Given the description of an element on the screen output the (x, y) to click on. 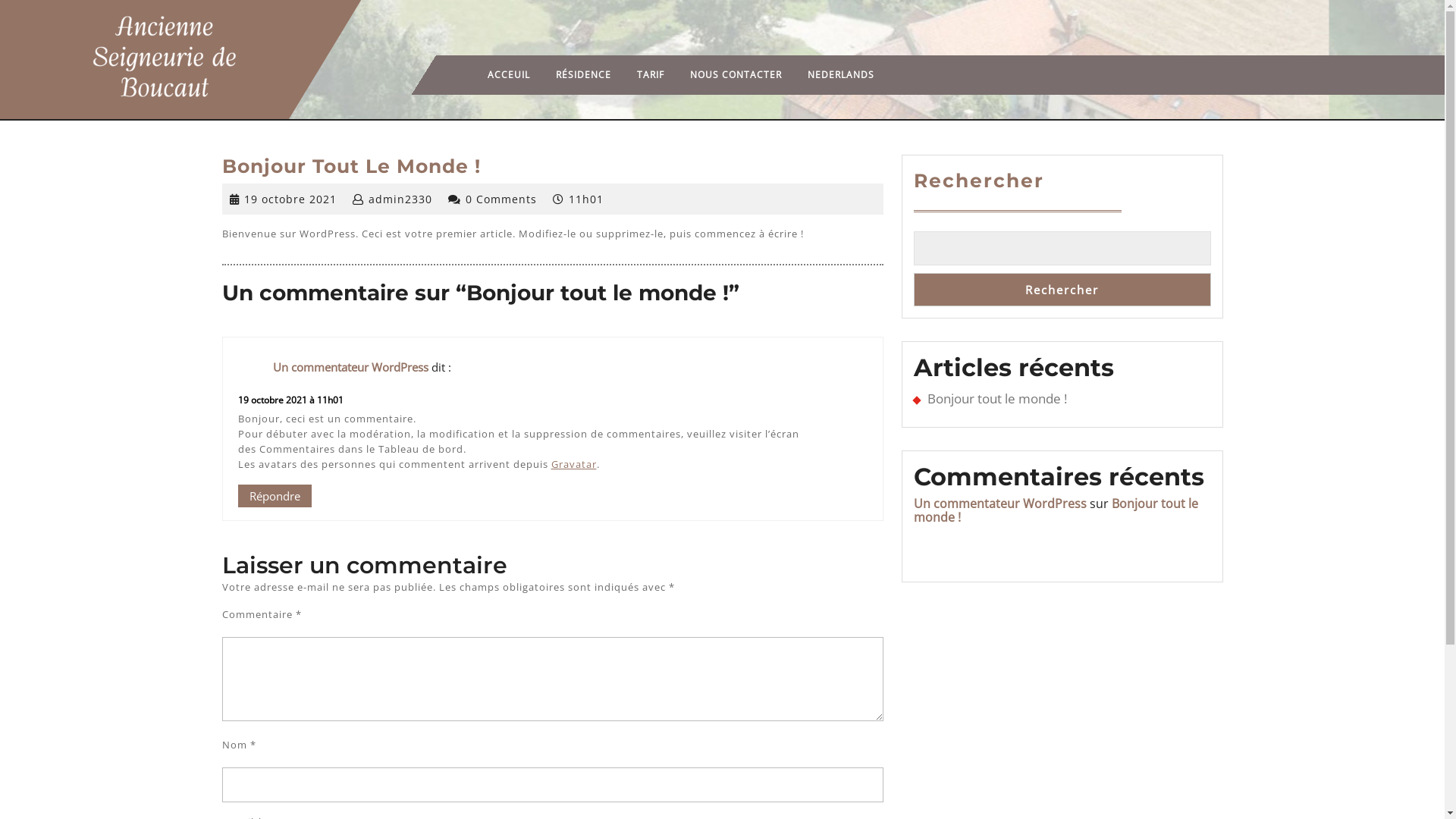
Un commentateur WordPress Element type: text (999, 503)
NEDERLANDS Element type: text (840, 74)
TARIF Element type: text (650, 74)
Un commentateur WordPress Element type: text (350, 366)
Gravatar Element type: text (573, 463)
admin2330 Element type: text (400, 198)
Rechercher Element type: text (1061, 290)
Bonjour tout le monde ! Element type: text (1055, 510)
19 octobre 2021
19 octobre 2021 Element type: text (290, 198)
NOUS CONTACTER Element type: text (735, 74)
Bonjour tout le monde ! Element type: text (996, 398)
ACCEUIL Element type: text (508, 74)
